Given the description of an element on the screen output the (x, y) to click on. 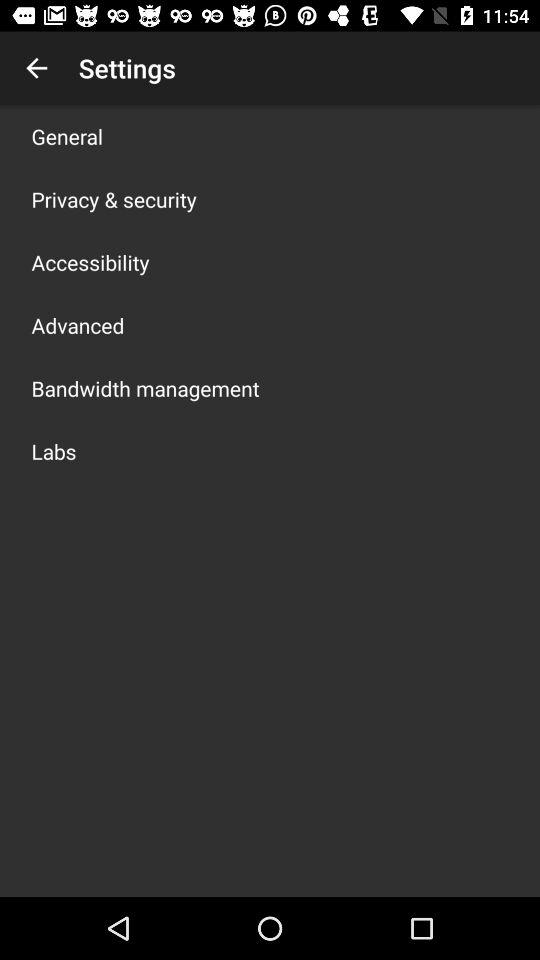
turn off item above the general (36, 68)
